Given the description of an element on the screen output the (x, y) to click on. 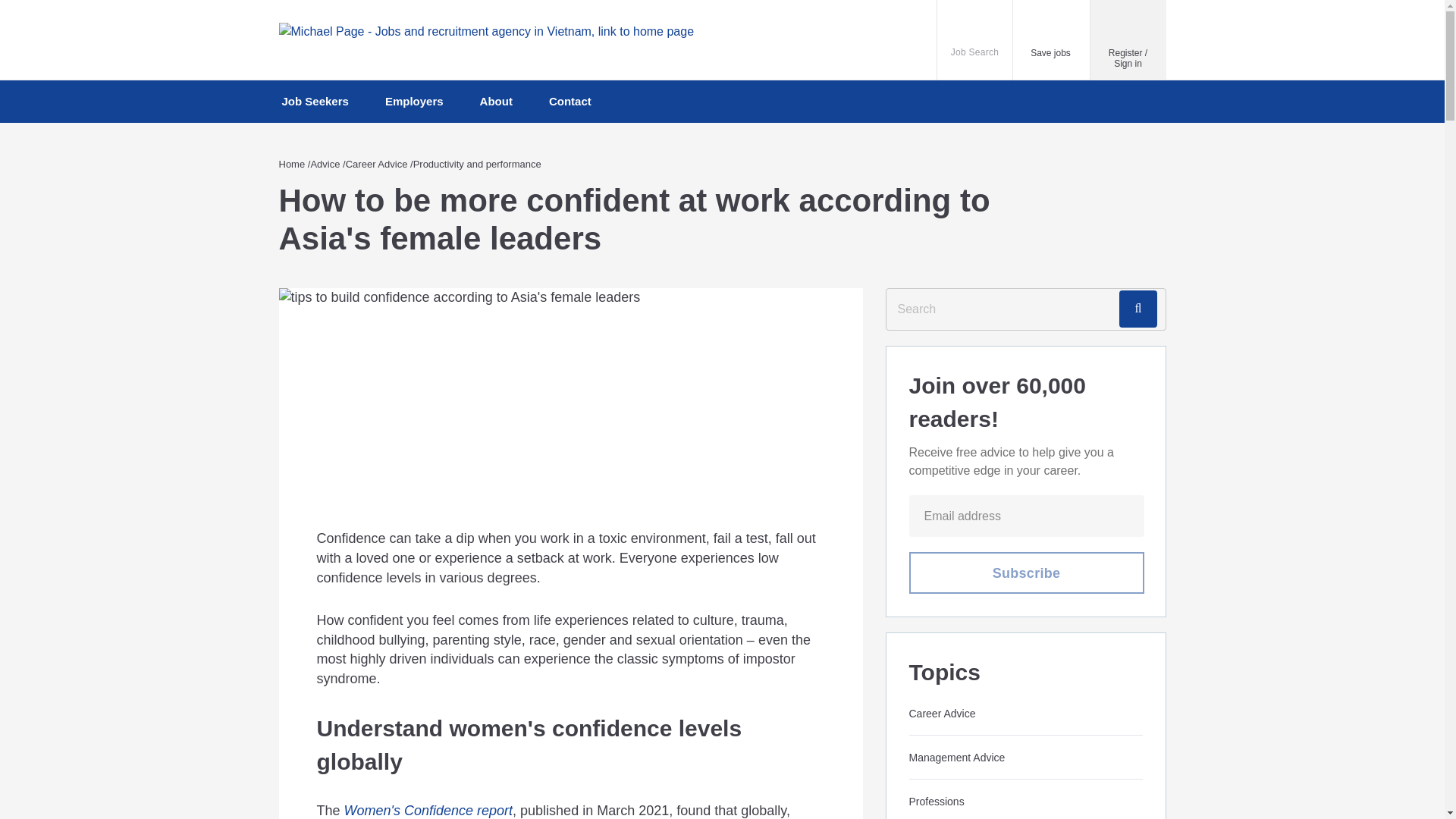
Employers (414, 101)
Job Search (975, 40)
Submit (1051, 40)
Subscribe (101, 12)
Search (1025, 572)
Job Seekers (1141, 309)
